Given the description of an element on the screen output the (x, y) to click on. 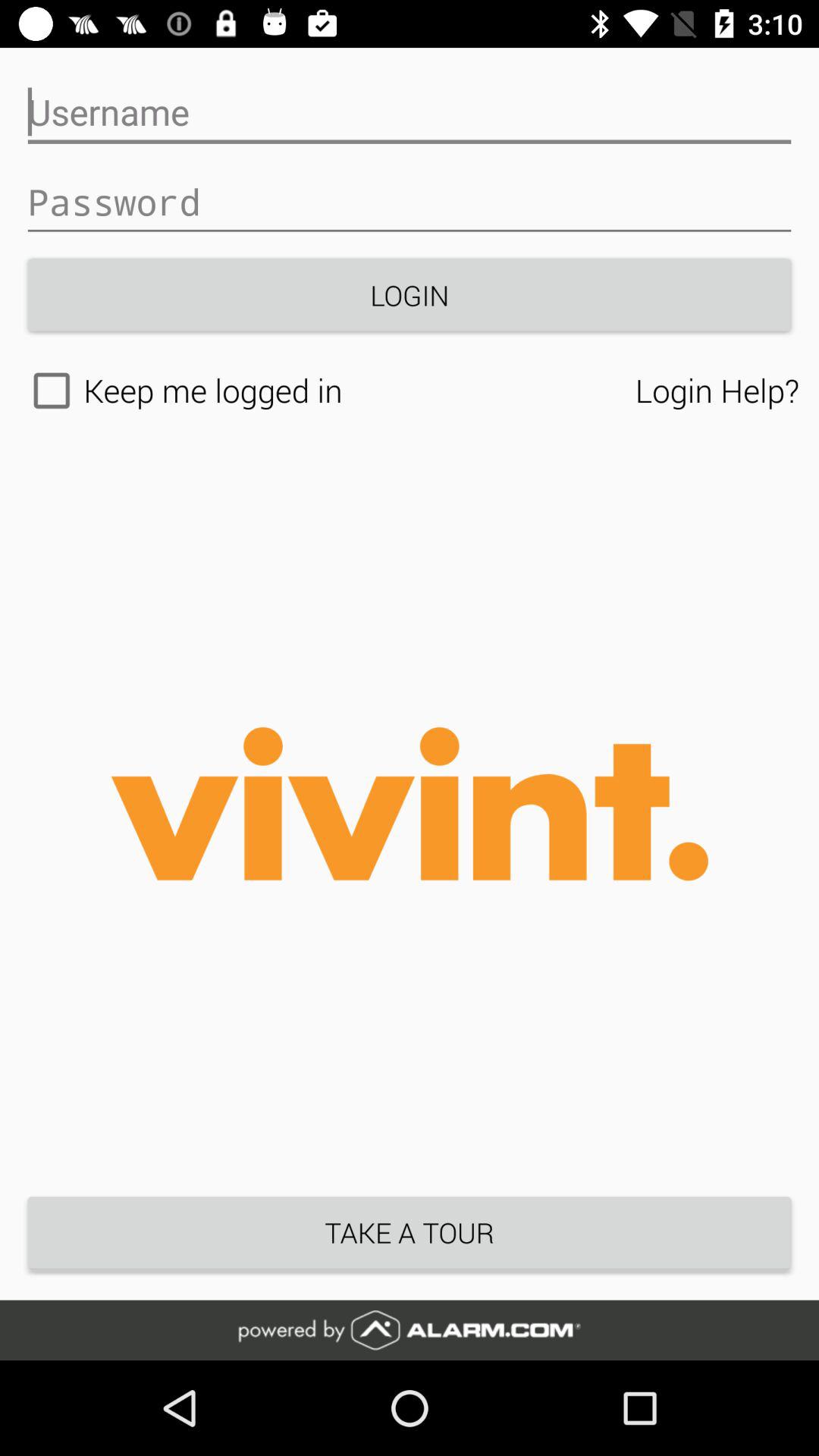
choose the keep me logged (327, 390)
